Given the description of an element on the screen output the (x, y) to click on. 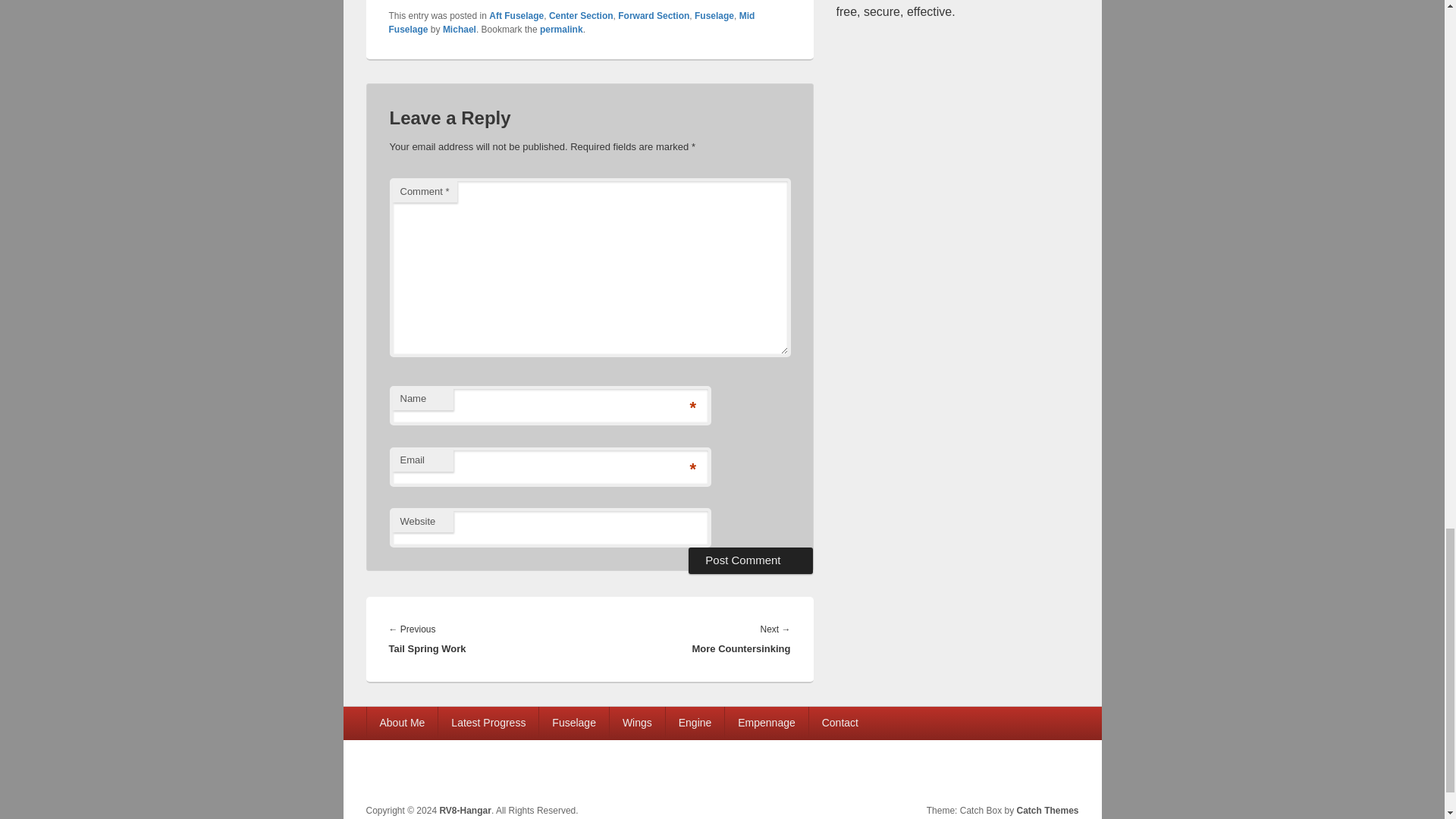
Permalink to Build it up, Tear it down (561, 29)
Post Comment (750, 560)
Latest Progress (488, 722)
Catch Themes (1047, 810)
Post Comment (750, 560)
Aft Fuselage (516, 15)
RV8-Hangar (464, 810)
About Me (402, 722)
permalink (561, 29)
Fuselage (713, 15)
Center Section (580, 15)
Mid Fuselage (571, 22)
Forward Section (652, 15)
Michael (459, 29)
